Given the description of an element on the screen output the (x, y) to click on. 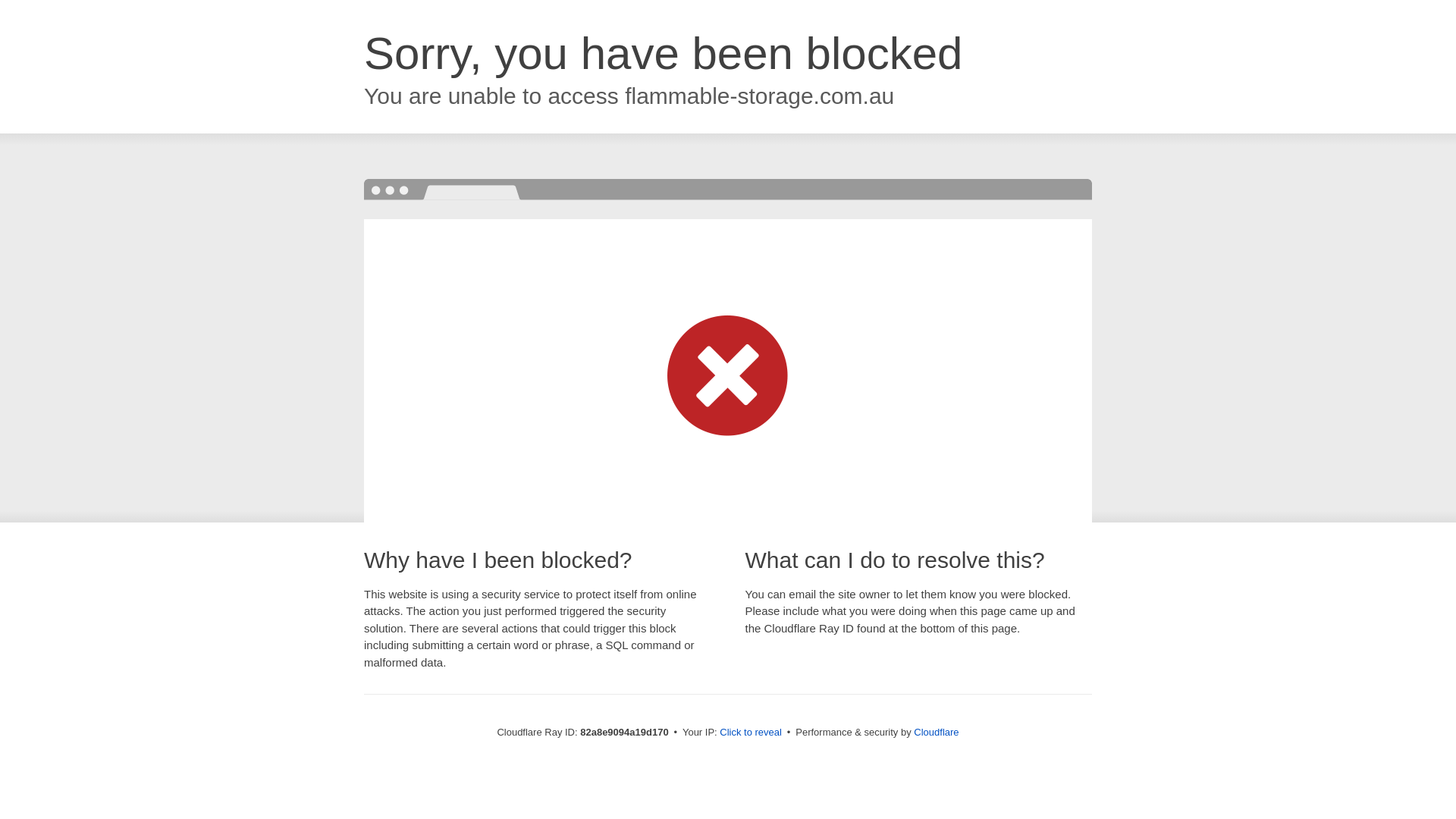
Cloudflare Element type: text (935, 731)
Click to reveal Element type: text (750, 732)
